Given the description of an element on the screen output the (x, y) to click on. 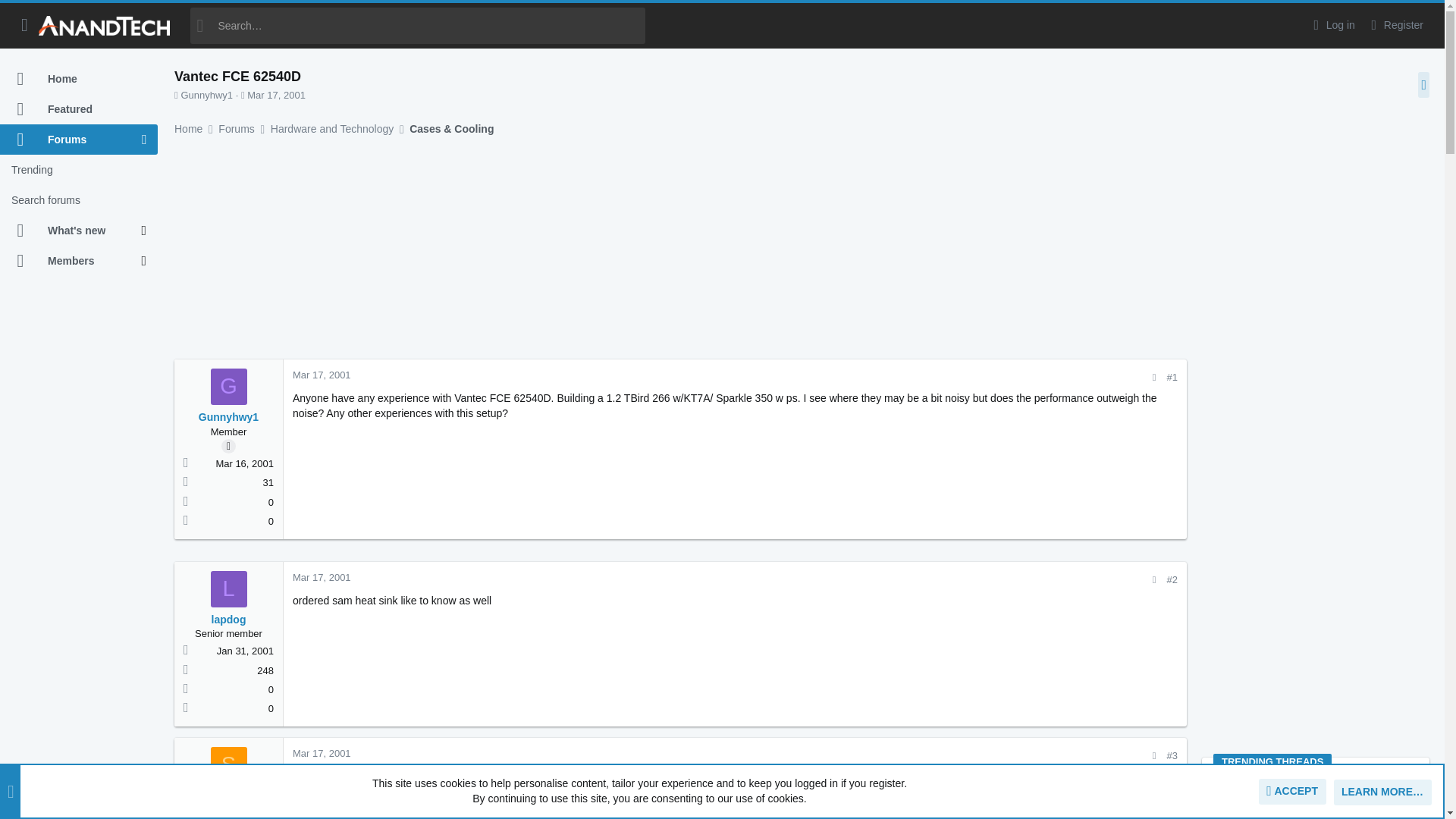
Home (78, 78)
Mar 17, 2001 at 8:39 PM (321, 577)
Log in (1332, 24)
Search forums (78, 200)
Forums (70, 139)
What's new (70, 230)
Mar 17, 2001 at 4:57 PM (321, 374)
Mar 17, 2001 at 4:57 PM (276, 94)
Register (1395, 24)
Featured (78, 109)
Mar 17, 2001 at 9:13 PM (321, 753)
Trending (78, 169)
